Given the description of an element on the screen output the (x, y) to click on. 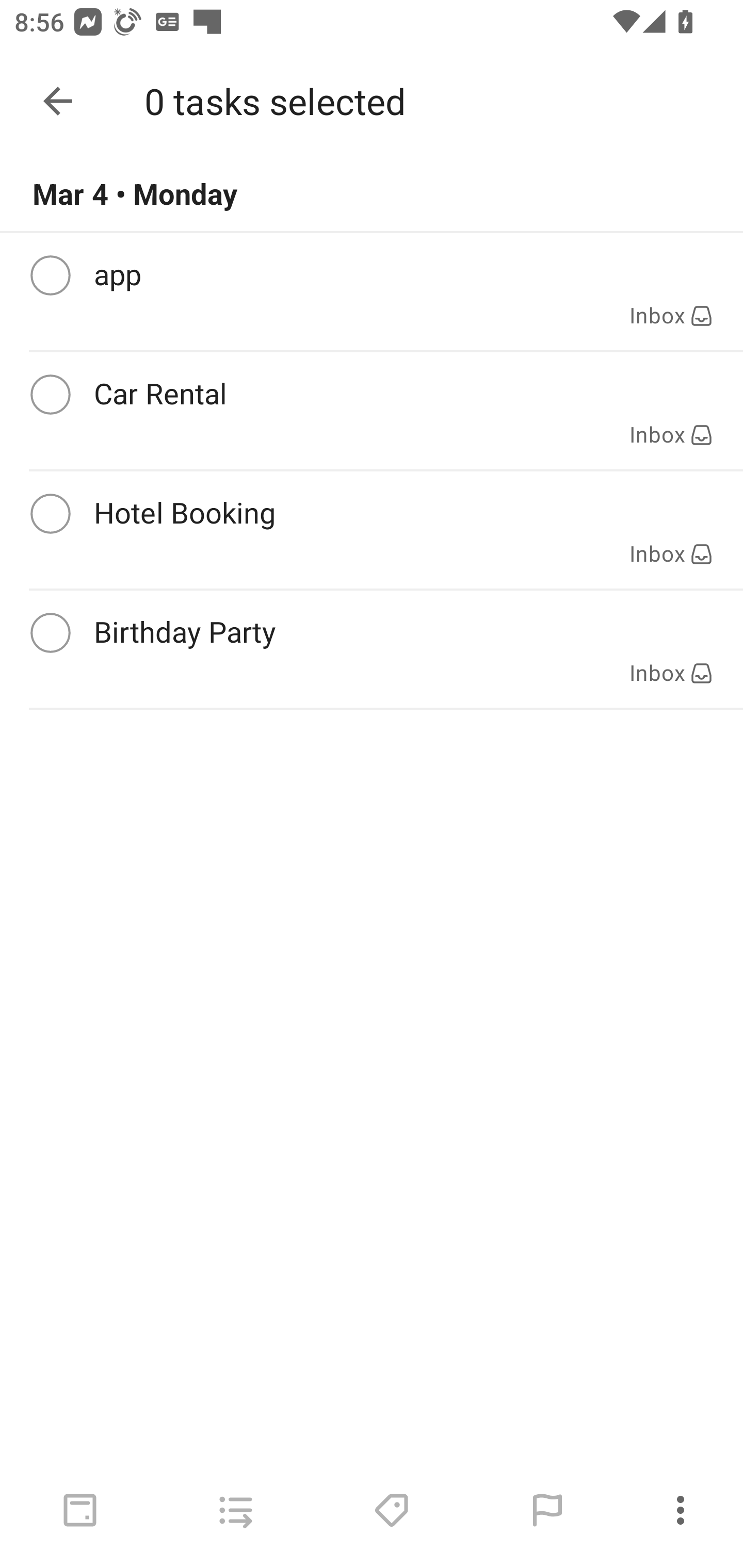
Today More options (371, 100)
Done (57, 100)
Mar 4 • Monday (371, 194)
Complete app Inbox (371, 291)
Complete (50, 275)
Complete Car Rental Inbox (371, 410)
Complete (50, 395)
Complete Hotel Booking Inbox (371, 529)
Complete (50, 514)
Complete Birthday Party Inbox (371, 649)
Complete (50, 633)
Schedule (80, 1510)
Move (235, 1510)
Labels (391, 1510)
Set priority (547, 1510)
More options (683, 1510)
